Given the description of an element on the screen output the (x, y) to click on. 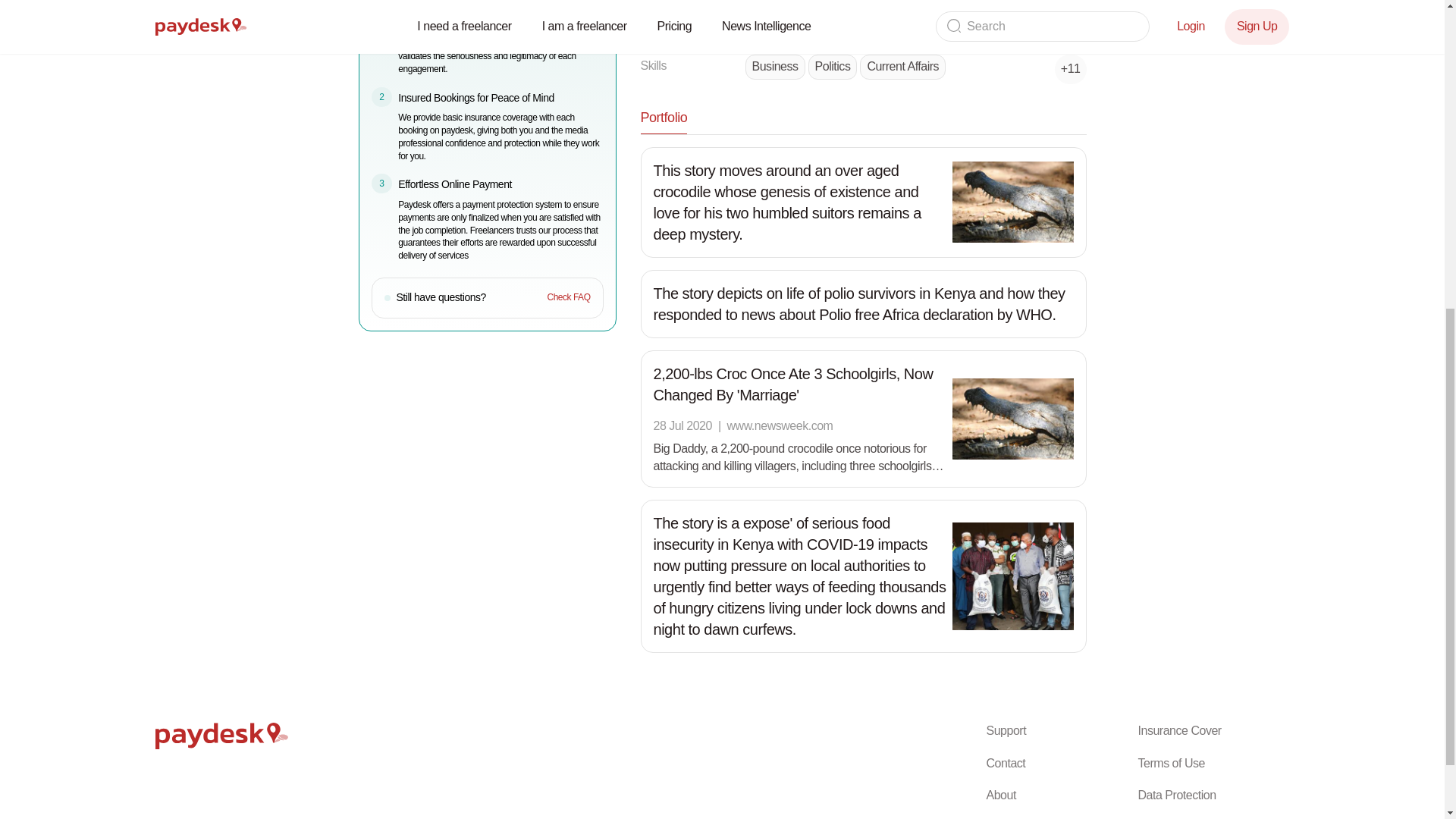
Contact (1061, 763)
Data Protection (1212, 795)
Insurance Cover (1212, 730)
Terms of Use (1212, 763)
Support (1061, 730)
About (1061, 795)
Check FAQ (568, 297)
